Given the description of an element on the screen output the (x, y) to click on. 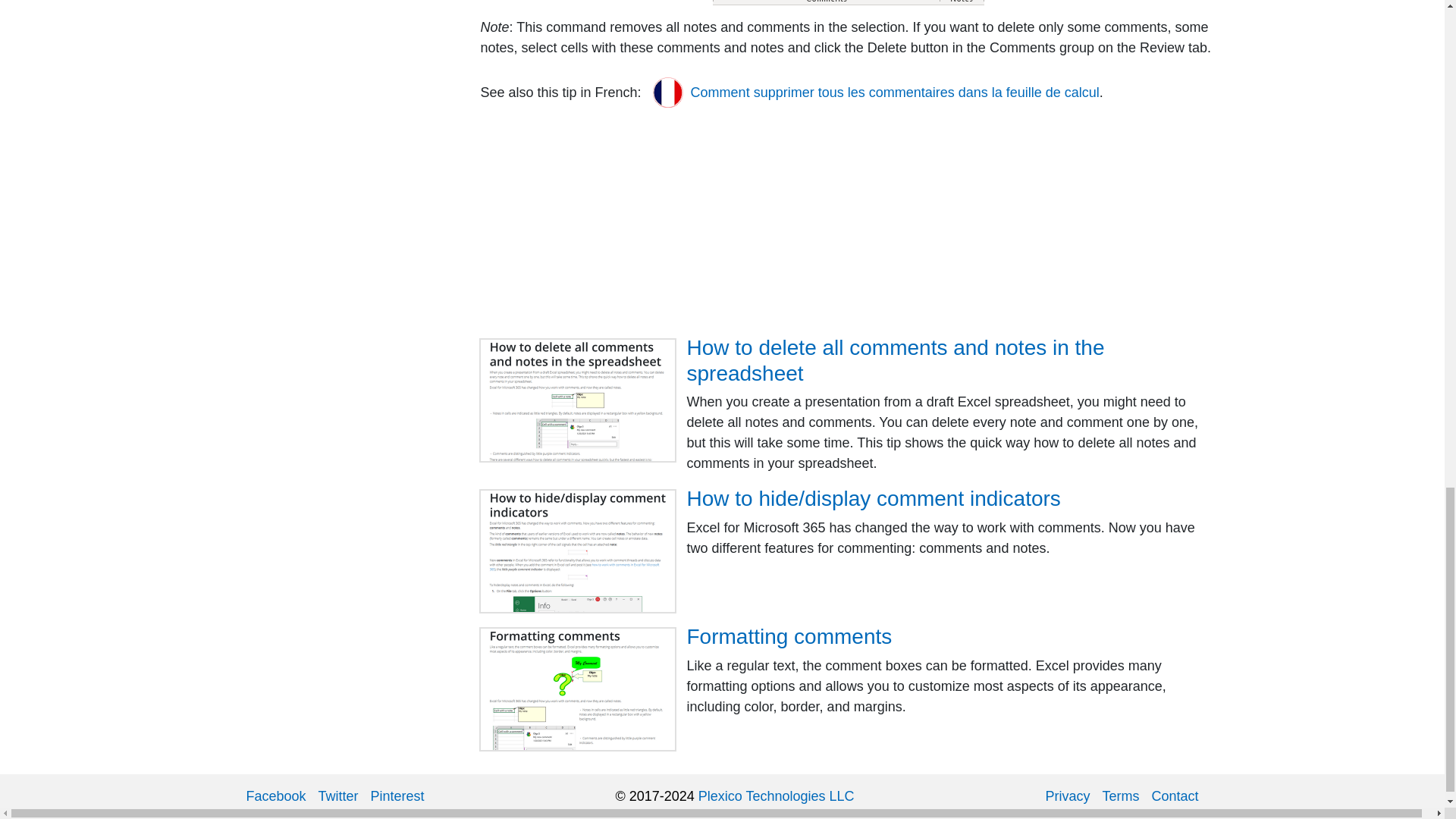
Formatting comments (577, 689)
Delete all comments in Excel for Microsoft 365 (848, 2)
How to delete all comments and notes in the spreadsheet (577, 400)
